Given the description of an element on the screen output the (x, y) to click on. 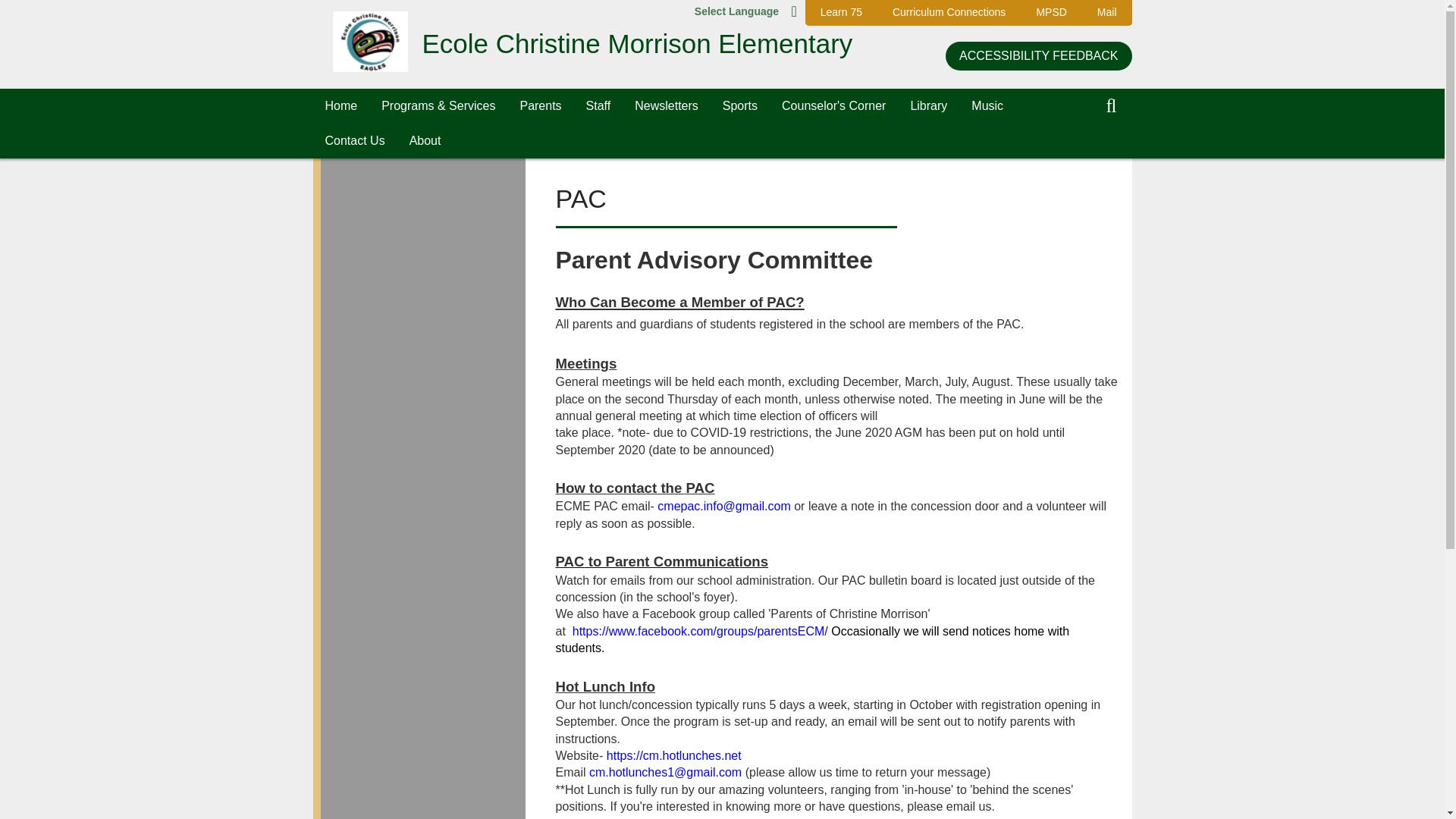
Library (928, 105)
Home (341, 105)
Music (986, 105)
About (424, 140)
Curriculum Connections (948, 12)
Newsletters (666, 105)
Learn 75 (841, 12)
Contact Us (354, 140)
Staff (598, 105)
Mail (1106, 12)
